Given the description of an element on the screen output the (x, y) to click on. 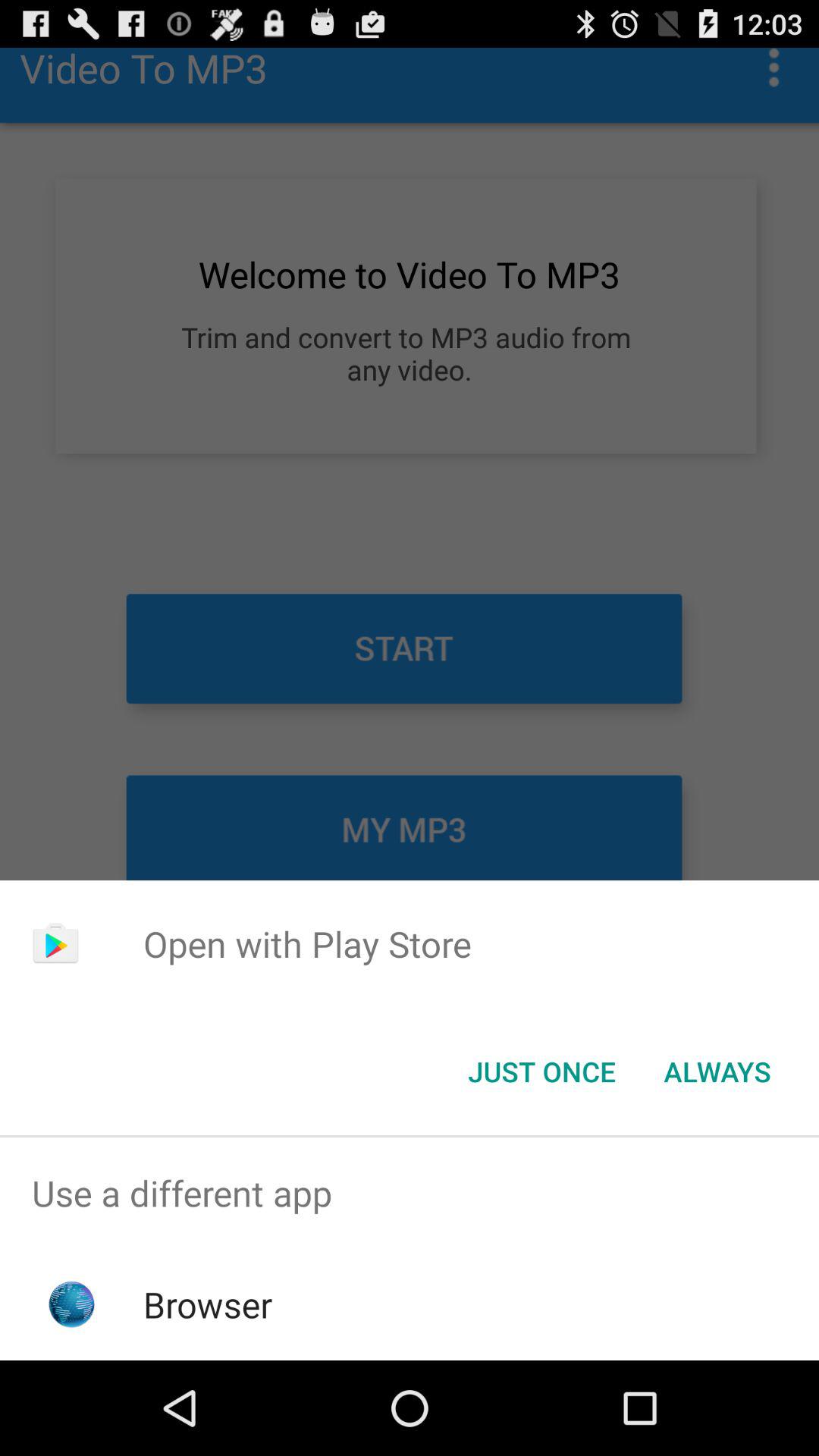
select browser item (207, 1304)
